Given the description of an element on the screen output the (x, y) to click on. 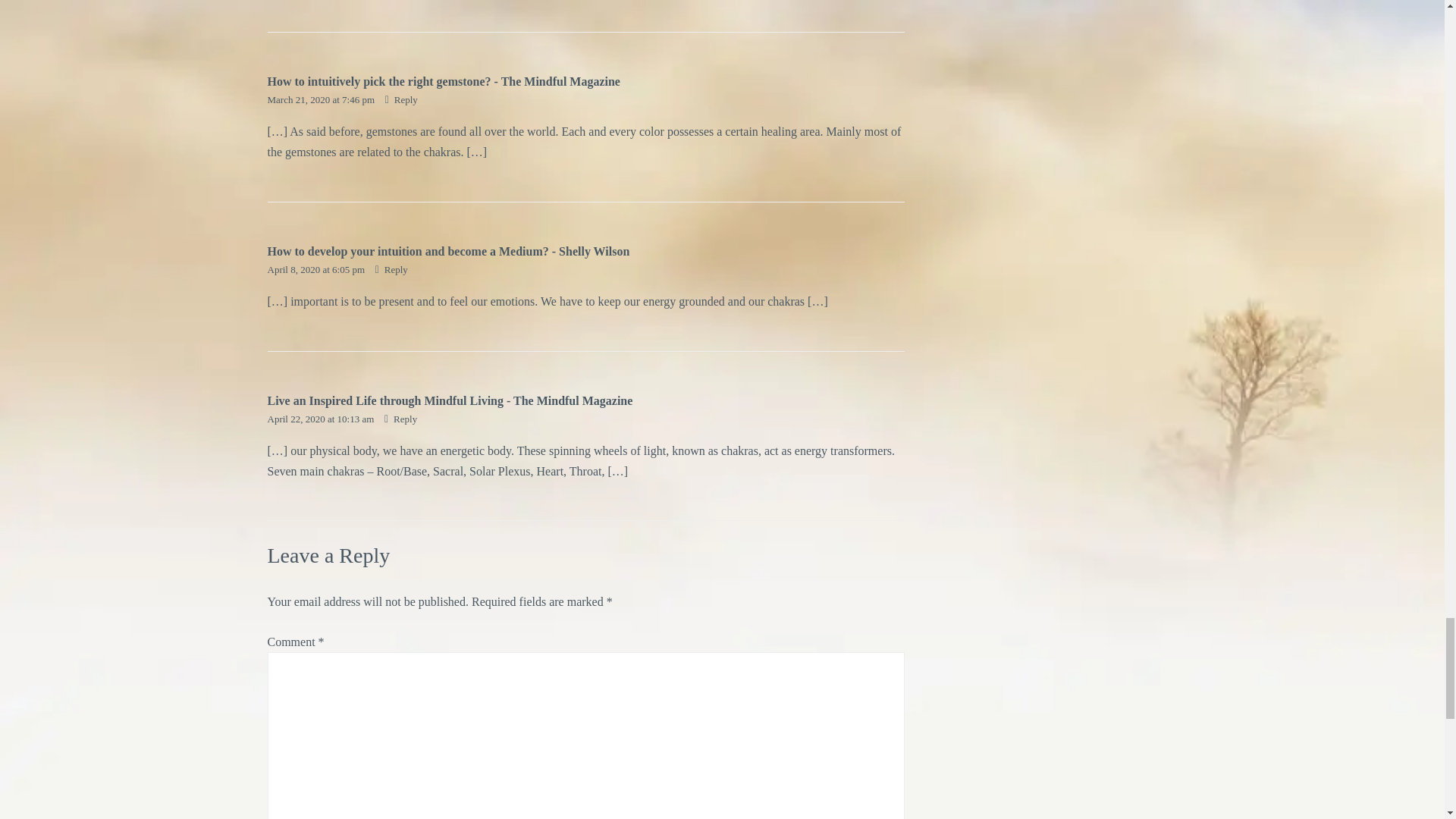
April 8, 2020 at 6:05 pm (316, 269)
Reply (391, 269)
Reply (400, 419)
Reply (401, 99)
March 21, 2020 at 7:46 pm (321, 99)
April 22, 2020 at 10:13 am (320, 419)
